Given the description of an element on the screen output the (x, y) to click on. 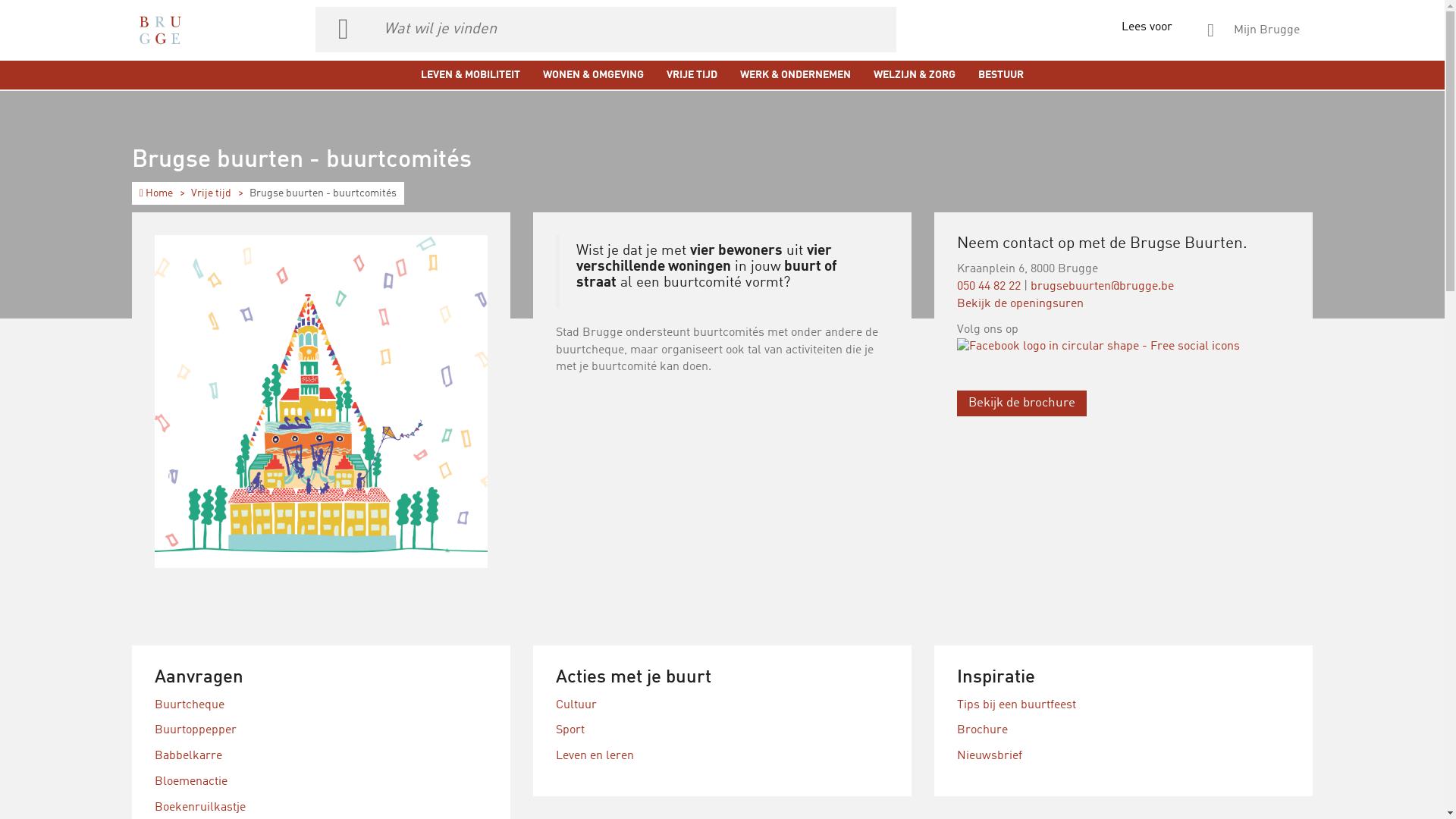
Ga naar de startpagina Element type: hover (159, 30)
Tips bij een buurtfeest Element type: text (1016, 705)
Buurtoppepper Element type: text (195, 730)
Volg ons op facebook Element type: hover (1098, 347)
Home Element type: text (155, 193)
Bloemenactie Element type: text (190, 781)
Bekijk de openingsuren Element type: text (1020, 304)
Lees voor Element type: text (1150, 18)
Brochure Element type: text (982, 730)
Nieuwsbrief Element type: text (989, 755)
Bekijk de brochure Element type: text (1021, 403)
Sport Element type: text (569, 730)
LEVEN & MOBILITEIT Element type: text (470, 74)
WONEN & OMGEVING Element type: text (593, 74)
Boekenruilkastje Element type: text (199, 807)
VRIJE TIJD Element type: text (691, 74)
BESTUUR Element type: text (1000, 74)
Leven en leren Element type: text (594, 755)
WERK & ONDERNEMEN Element type: text (795, 74)
brugsebuurten@brugge.be Element type: text (1101, 286)
WELZIJN & ZORG Element type: text (914, 74)
Buurtcheque Element type: text (189, 705)
Vrije tijd Element type: text (211, 193)
Babbelkarre Element type: text (188, 755)
050 44 82 22 Element type: text (988, 286)
Cultuur Element type: text (575, 705)
